Given the description of an element on the screen output the (x, y) to click on. 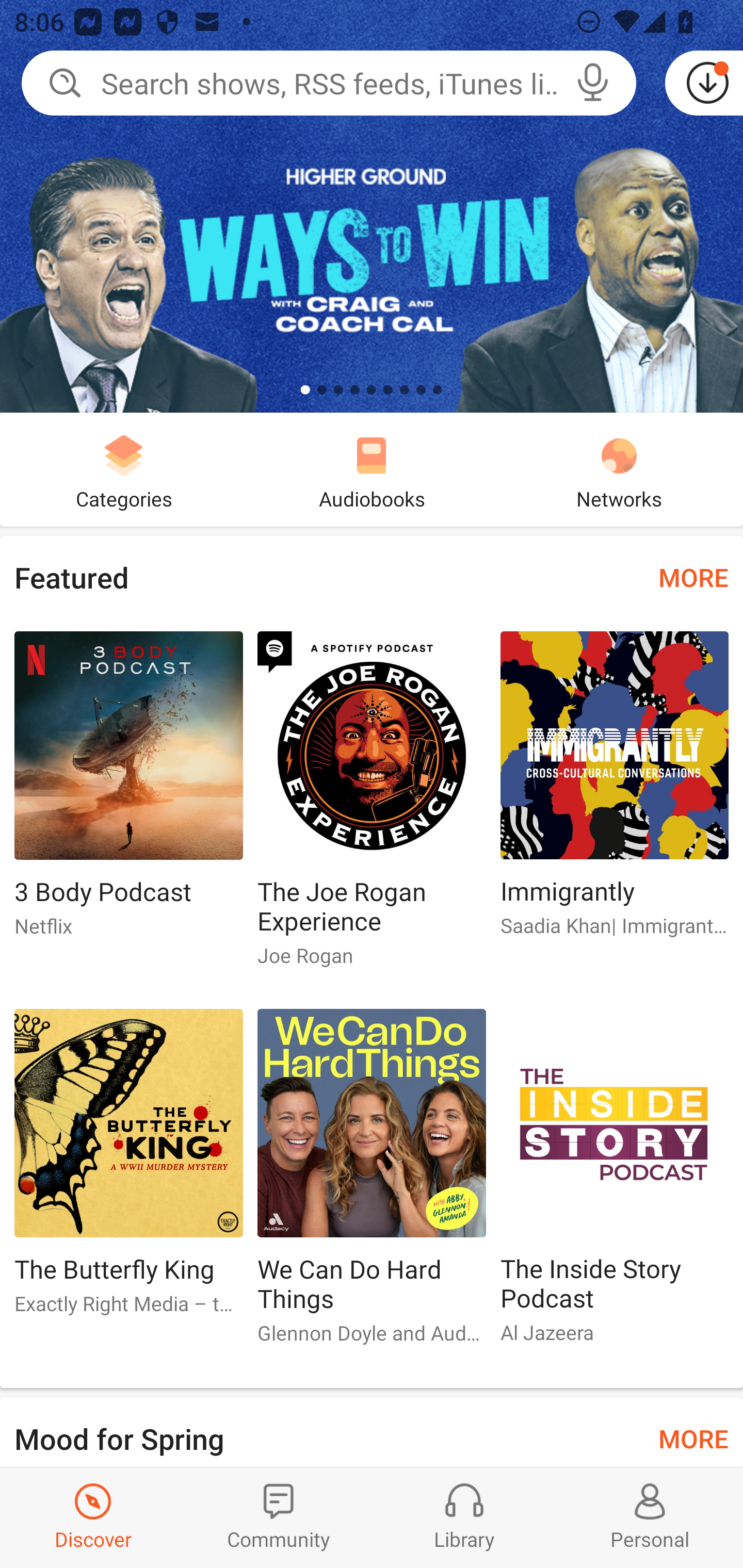
Ways To Win (371, 206)
Categories (123, 469)
Audiobooks (371, 469)
Networks (619, 469)
MORE (693, 576)
3 Body Podcast 3 Body Podcast Netflix (128, 792)
MORE (693, 1436)
Discover (92, 1517)
Community (278, 1517)
Library (464, 1517)
Profiles and Settings Personal (650, 1517)
